Given the description of an element on the screen output the (x, y) to click on. 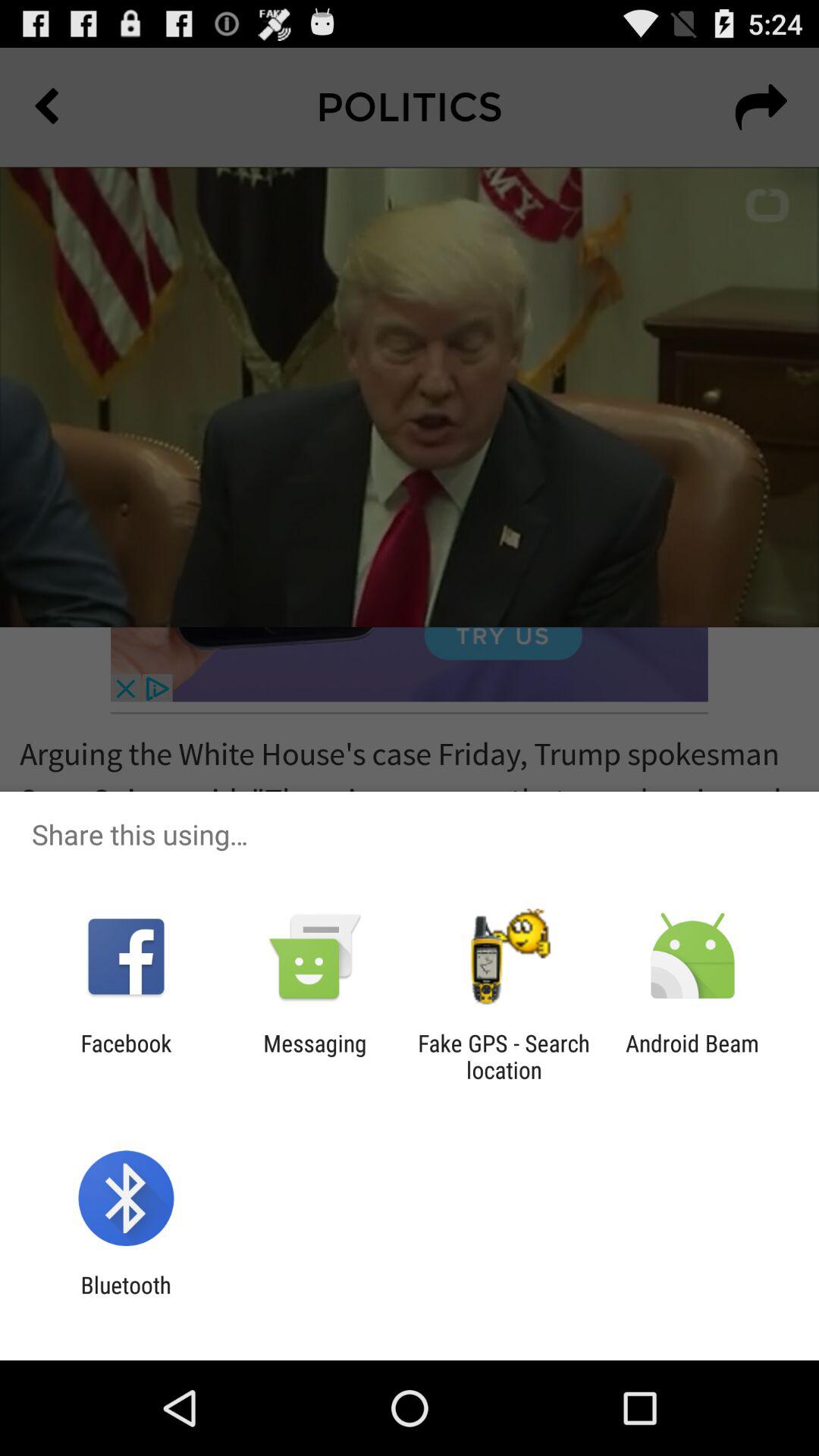
open the icon next to the messaging app (125, 1056)
